Given the description of an element on the screen output the (x, y) to click on. 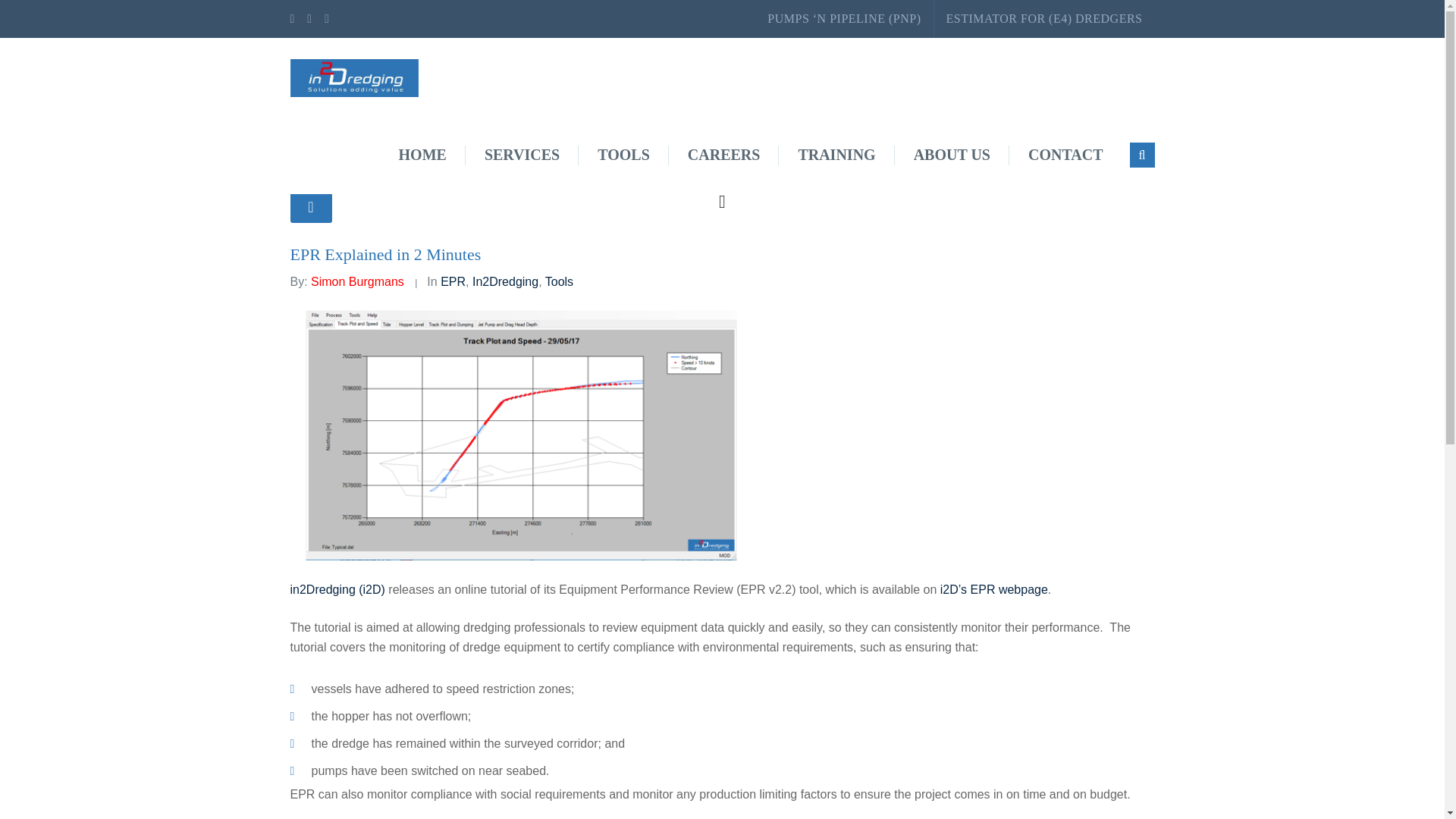
HOME (422, 155)
EPR (453, 281)
TOOLS (623, 155)
in2Dredging Pty Ltd (354, 76)
CONTACT (1065, 155)
Simon Burgmans (357, 281)
ABOUT US (952, 155)
Training (835, 155)
TRAINING (835, 155)
In2Dredging (504, 281)
SERVICES (521, 155)
Tools (558, 281)
CAREERS (723, 155)
Careers (723, 155)
